Given the description of an element on the screen output the (x, y) to click on. 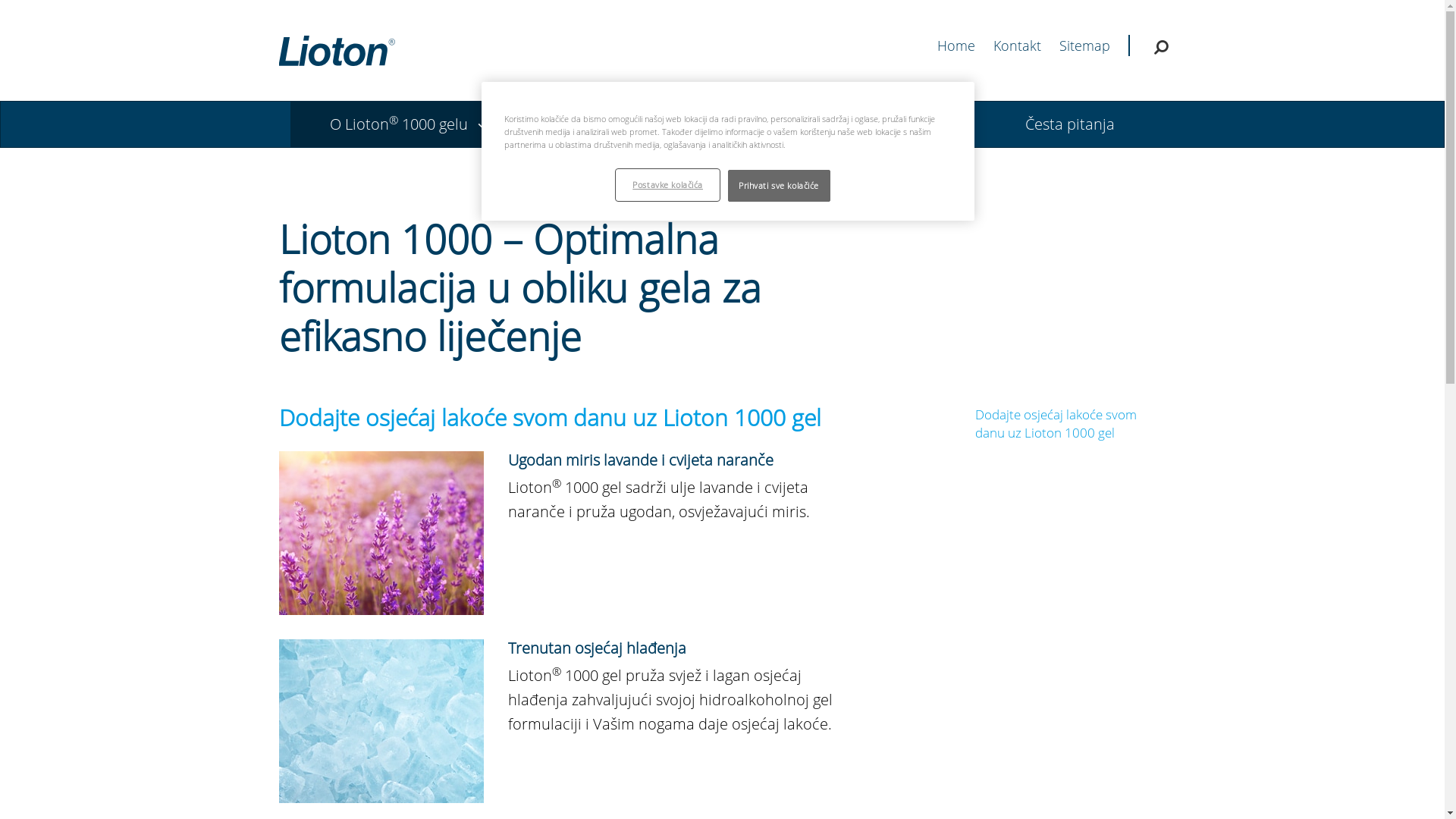
Home Element type: text (956, 45)
Kontakt Element type: text (1017, 45)
Sitemap Element type: text (1089, 45)
Bolesti vena Element type: text (616, 124)
